Given the description of an element on the screen output the (x, y) to click on. 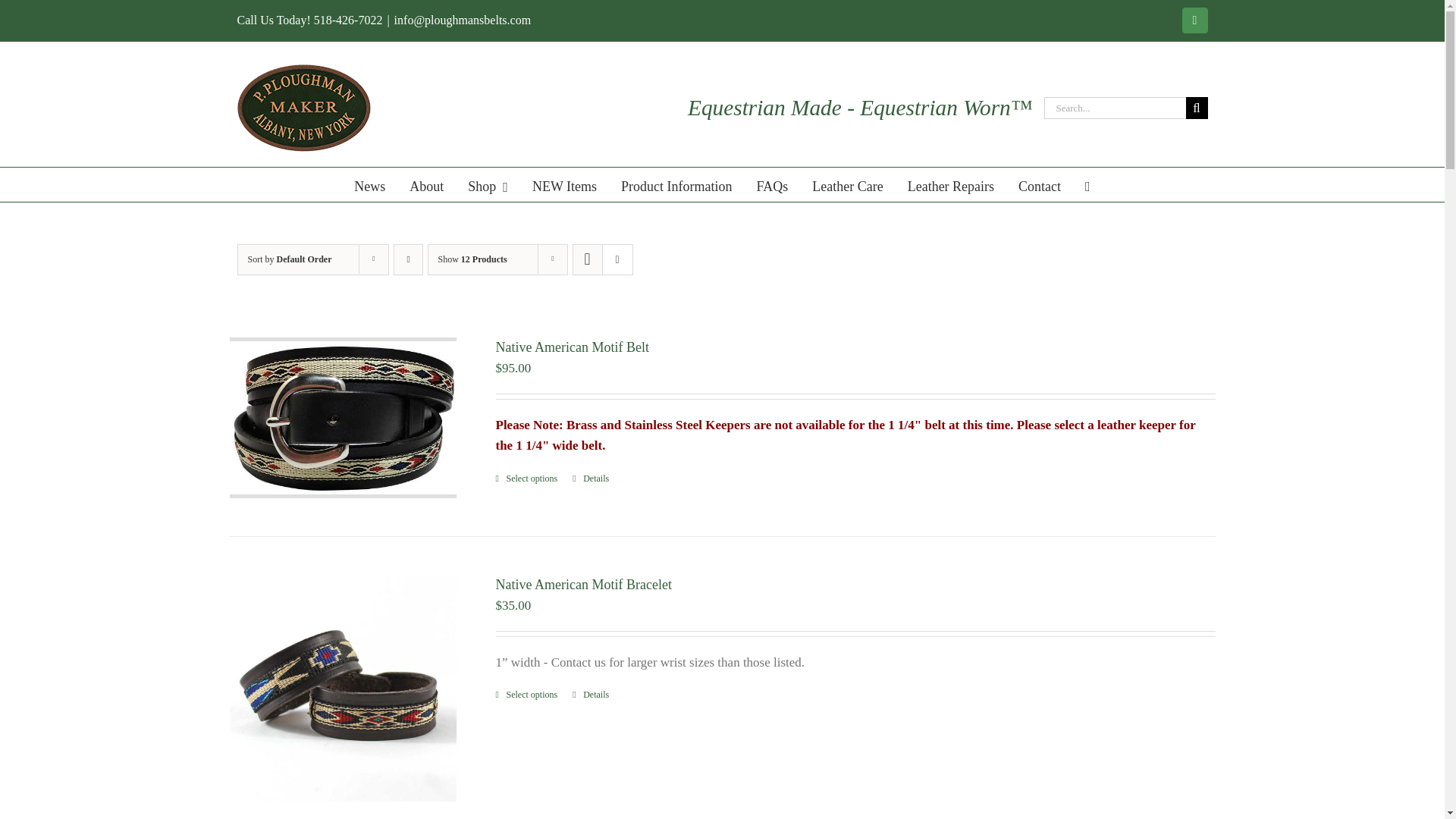
Contact (1039, 184)
About (426, 184)
Leather Care (847, 184)
FAQs (773, 184)
Product Information (676, 184)
Shop (487, 184)
News (369, 184)
Leather Repairs (950, 184)
Facebook (1195, 20)
NEW Items (564, 184)
